Given the description of an element on the screen output the (x, y) to click on. 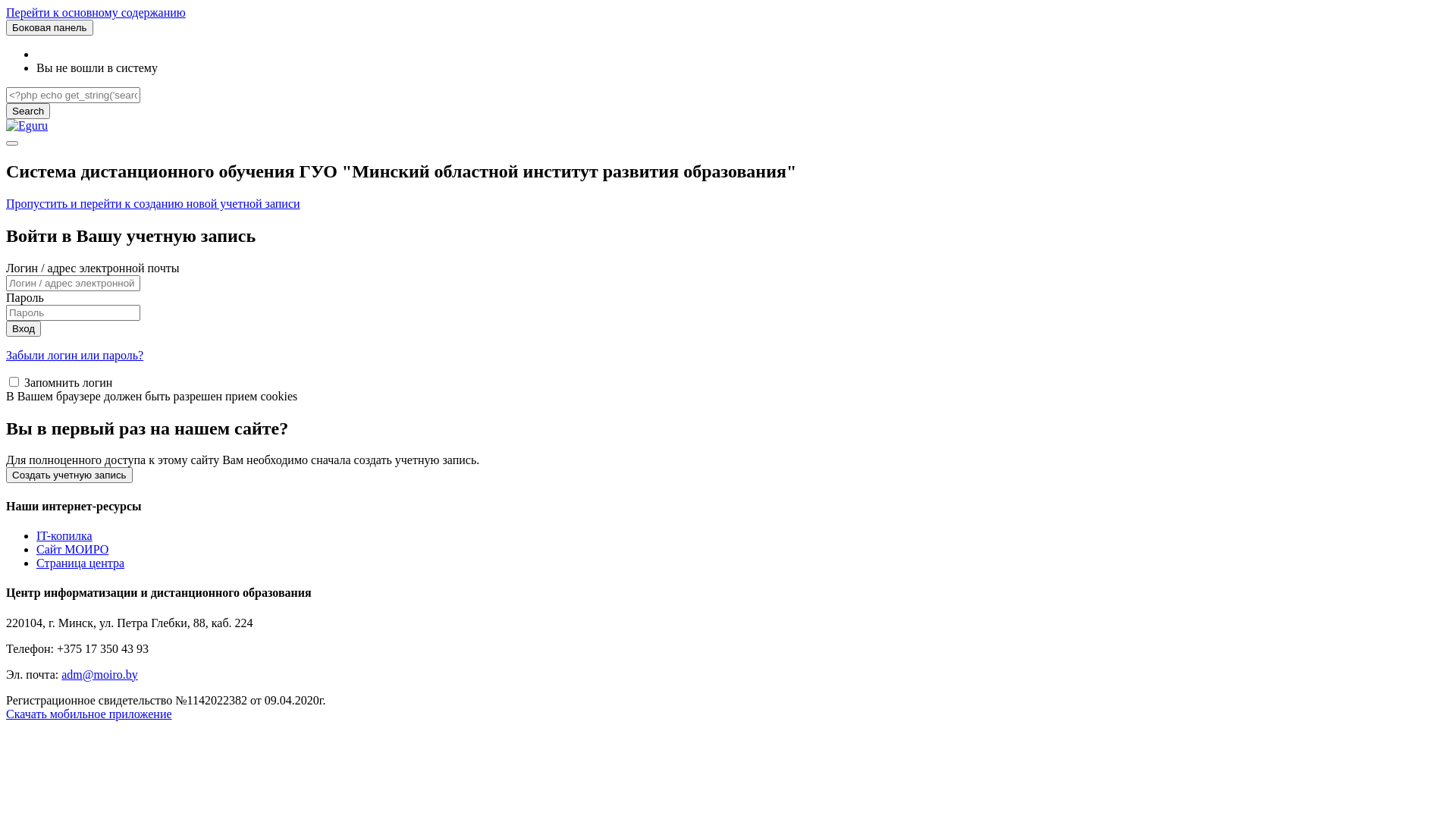
adm@moiro.by Element type: text (99, 673)
Search Element type: text (28, 111)
